Given the description of an element on the screen output the (x, y) to click on. 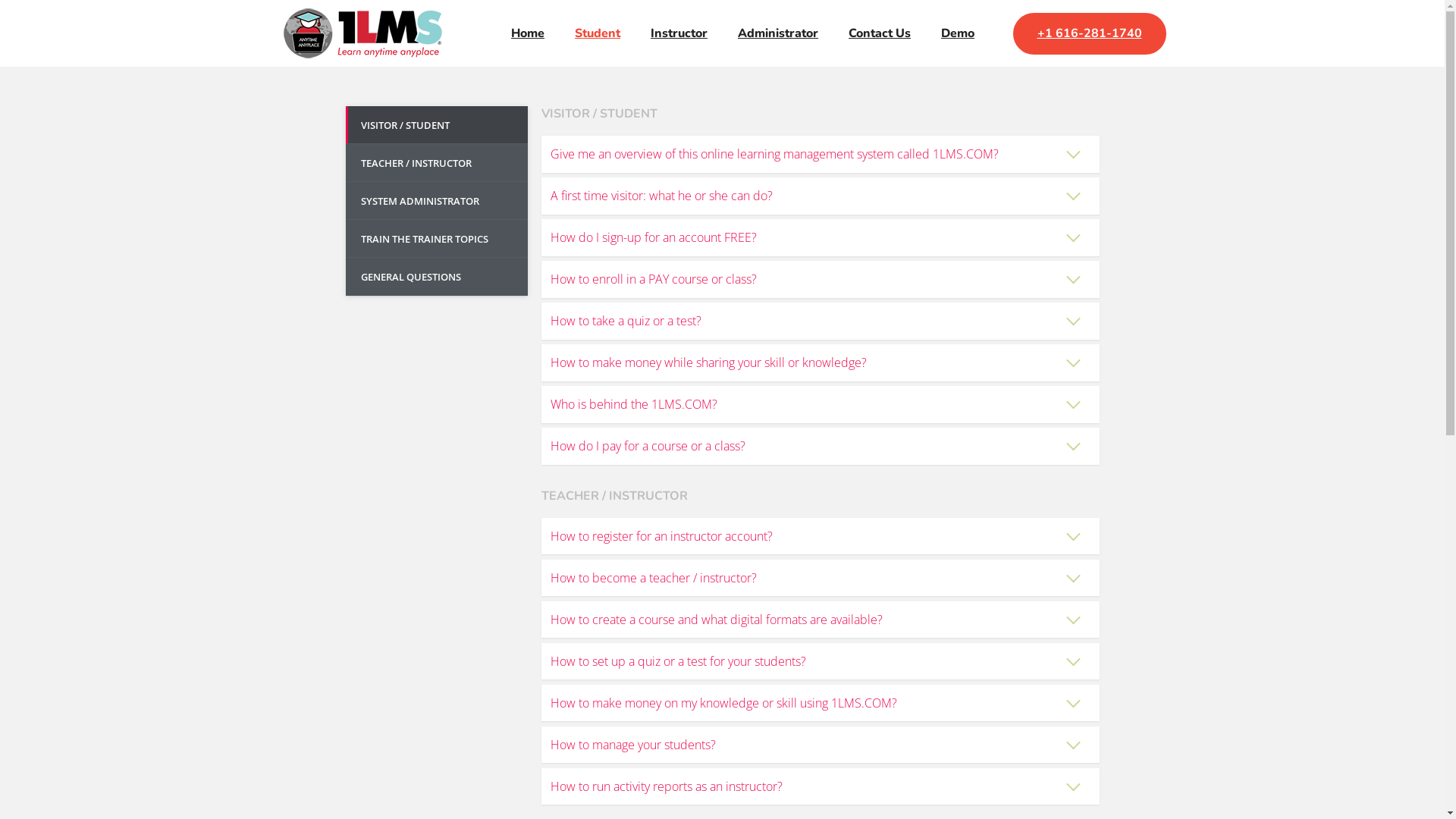
Administrator Element type: text (777, 33)
Demo Element type: text (957, 33)
How to set up a quiz or a test for your students? Element type: text (819, 661)
How to enroll in a PAY course or class? Element type: text (819, 279)
How to make money on my knowledge or skill using 1LMS.COM? Element type: text (819, 702)
How do I sign-up for an account FREE? Element type: text (819, 237)
Student Element type: text (597, 33)
Home Element type: text (527, 33)
How to take a quiz or a test? Element type: text (819, 320)
A first time visitor: what he or she can do? Element type: text (819, 195)
How to run activity reports as an instructor? Element type: text (819, 786)
VISITOR / STUDENT Element type: text (436, 125)
Who is behind the 1LMS.COM? Element type: text (819, 404)
TRAIN THE TRAINER TOPICS Element type: text (436, 238)
How to manage your students? Element type: text (819, 744)
TEACHER / INSTRUCTOR Element type: text (436, 163)
How to become a teacher / instructor? Element type: text (819, 577)
GENERAL QUESTIONS Element type: text (436, 276)
How to register for an instructor account? Element type: text (819, 536)
How do I pay for a course or a class? Element type: text (819, 445)
+1 616-281-1740 Element type: text (1089, 32)
SYSTEM ADMINISTRATOR Element type: text (436, 200)
Contact Us Element type: text (879, 33)
How to make money while sharing your skill or knowledge? Element type: text (819, 362)
Instructor Element type: text (678, 33)
